Given the description of an element on the screen output the (x, y) to click on. 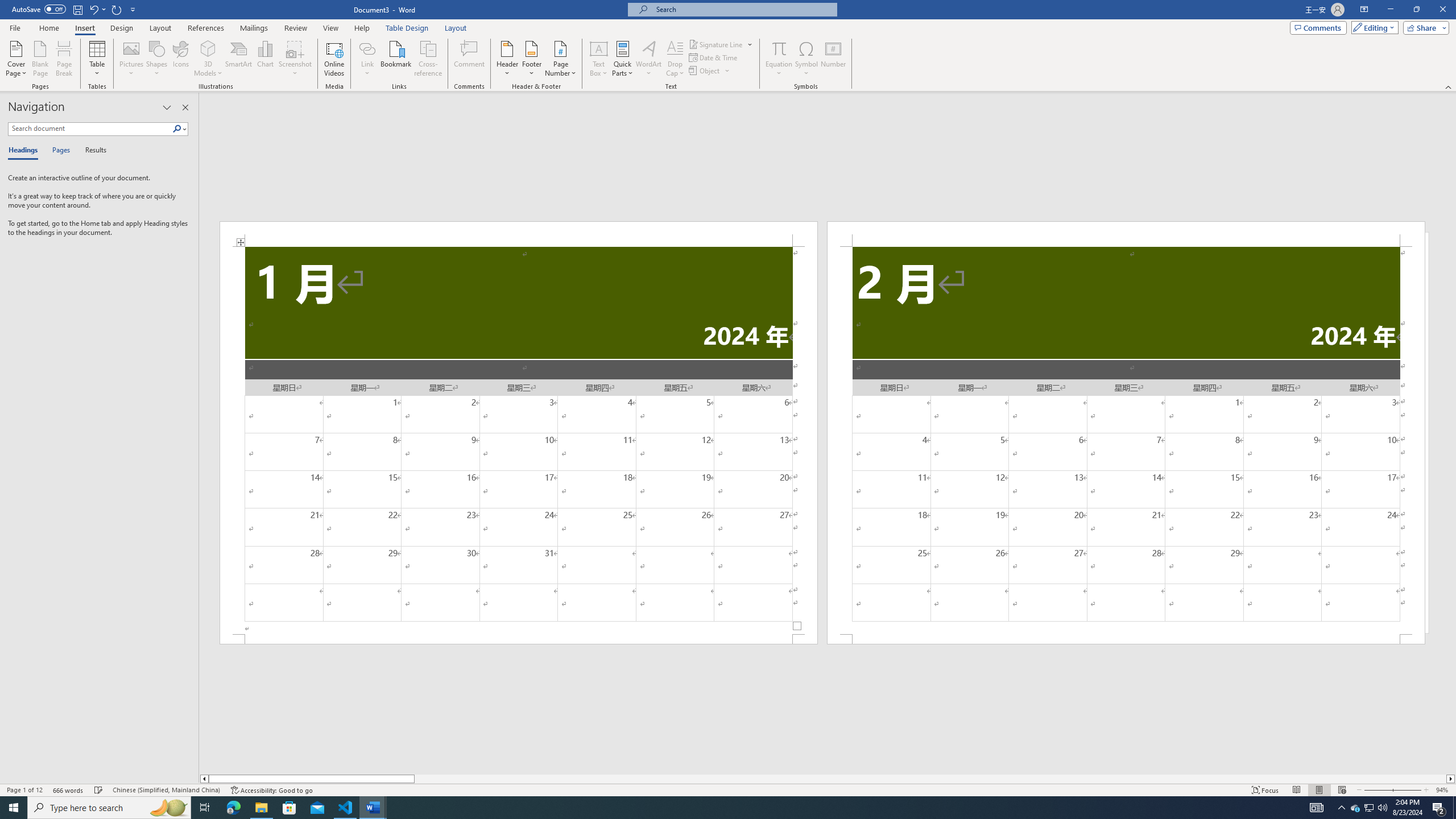
Quick Parts (622, 58)
More Options (778, 68)
Page Number Page 1 of 12 (24, 790)
Class: MsoCommandBar (728, 789)
Page 2 content (1126, 439)
Insert (83, 28)
Ribbon Display Options (1364, 9)
3D Models (208, 48)
Zoom Out (1377, 790)
Read Mode (1296, 790)
Equation (778, 48)
Footer -Section 2- (1126, 638)
Table Design (407, 28)
